Given the description of an element on the screen output the (x, y) to click on. 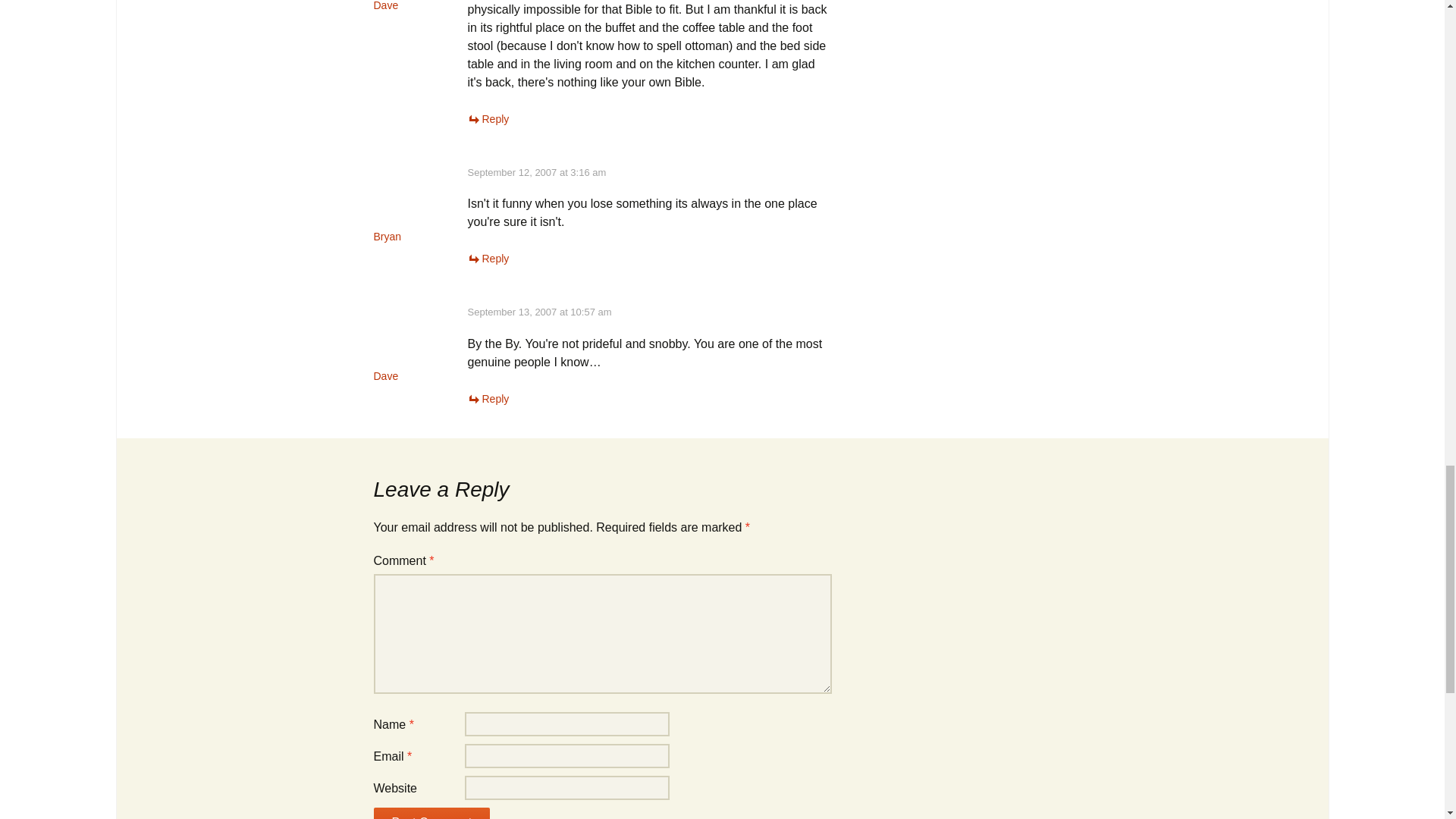
Reply (487, 398)
Post Comment (430, 813)
Dave (384, 376)
September 12, 2007 at 3:16 am (536, 172)
Dave (384, 5)
Reply (487, 258)
September 13, 2007 at 10:57 am (539, 311)
Post Comment (430, 813)
Reply (487, 119)
